Given the description of an element on the screen output the (x, y) to click on. 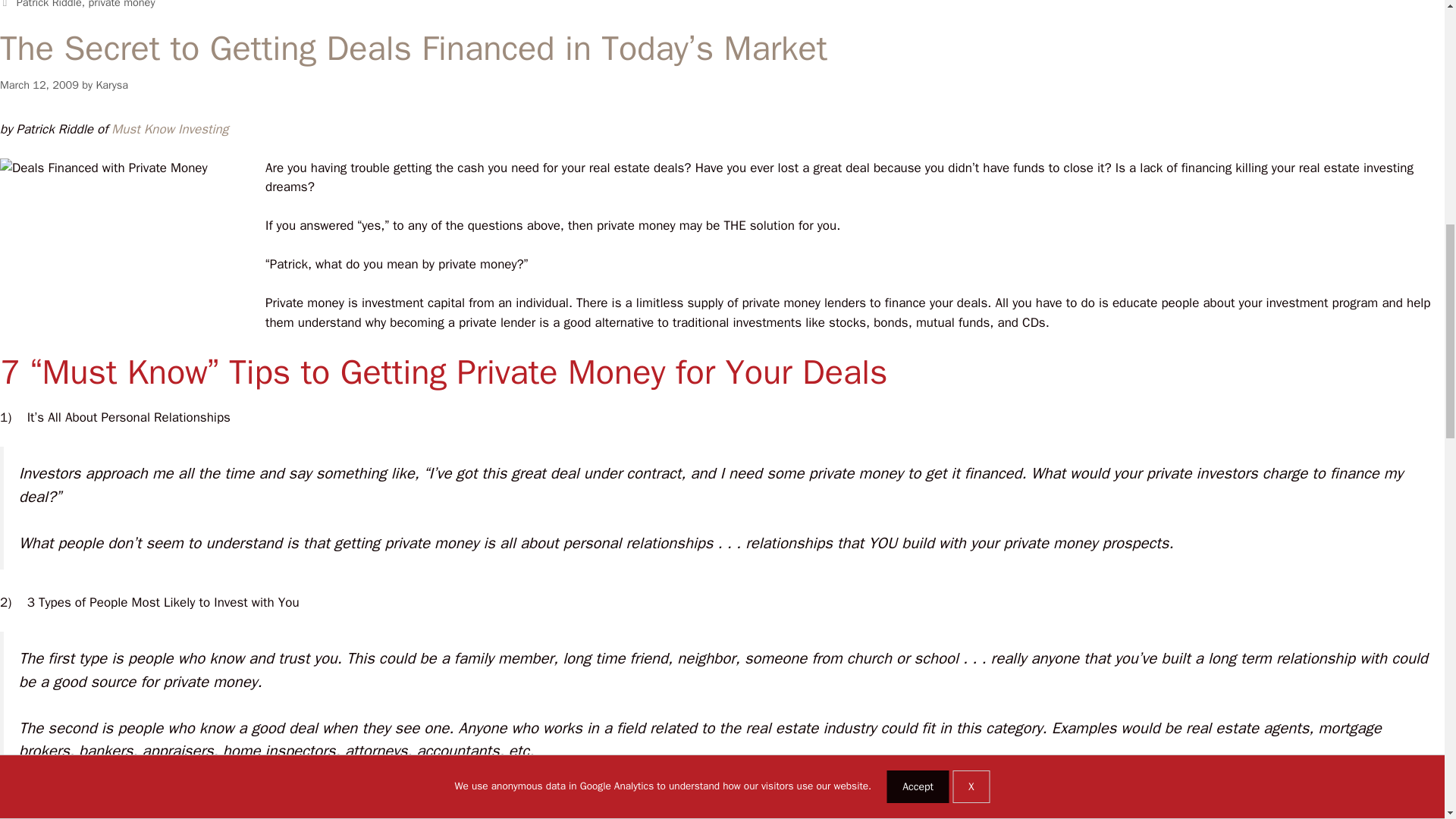
Deals Financed with Private Money (132, 245)
View all posts by Karysa (112, 84)
Patrick Riddle (48, 4)
Karysa (112, 84)
private money (121, 4)
Must Know Investing  (171, 129)
